Given the description of an element on the screen output the (x, y) to click on. 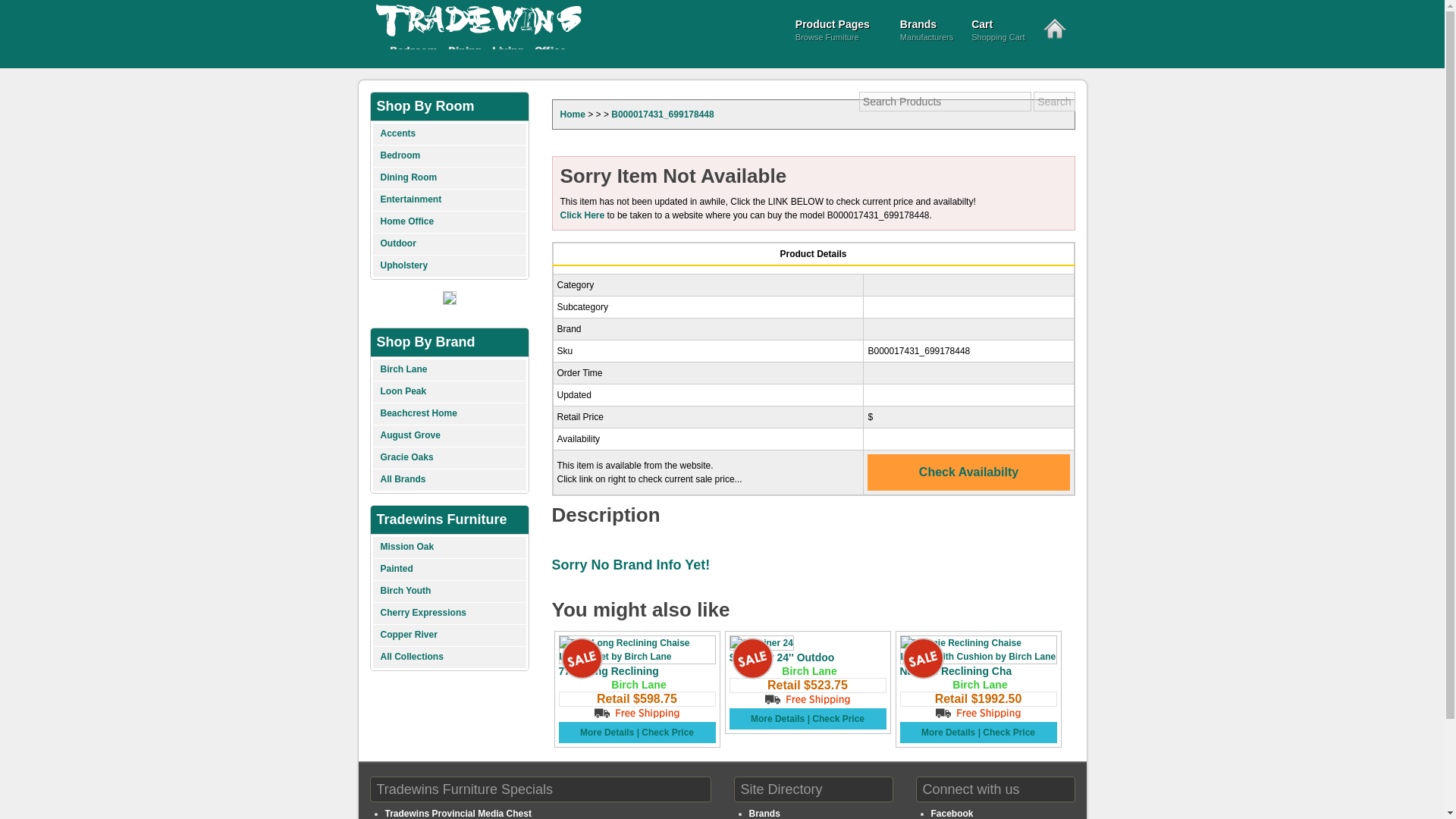
Check Price (1008, 732)
Naomie Reclining Cha (955, 671)
Entertainment (448, 200)
Home (572, 113)
77.5 Long Reclining Chaise Lounge Set by Birch Lane (635, 649)
Upholstery (448, 266)
77.5 Long Reclining (607, 671)
Birch Lane (807, 671)
Sale Item (581, 658)
